Given the description of an element on the screen output the (x, y) to click on. 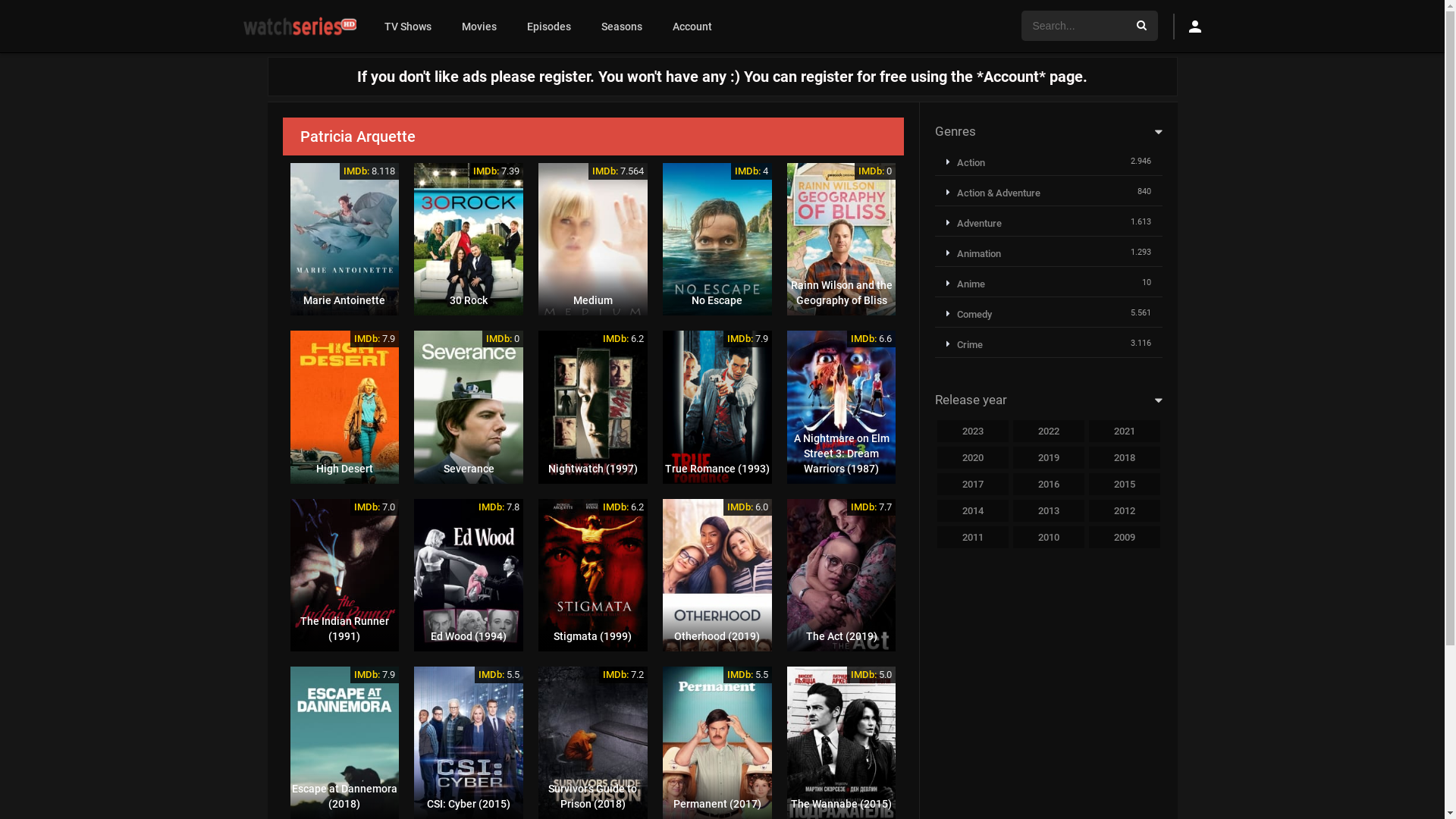
Account Element type: text (692, 26)
Adventure Element type: text (973, 223)
2009 Element type: text (1124, 537)
2010 Element type: text (1048, 537)
2020 Element type: text (972, 457)
Anime Element type: text (965, 283)
2019 Element type: text (1048, 457)
2017 Element type: text (972, 484)
2022 Element type: text (1048, 431)
Movies Element type: text (478, 26)
2021 Element type: text (1124, 431)
2014 Element type: text (972, 510)
Crime Element type: text (964, 344)
2023 Element type: text (972, 431)
TV Shows Element type: text (407, 26)
2012 Element type: text (1124, 510)
Animation Element type: text (973, 253)
Seasons Element type: text (621, 26)
2011 Element type: text (972, 537)
Episodes Element type: text (548, 26)
2015 Element type: text (1124, 484)
2013 Element type: text (1048, 510)
Action Element type: text (965, 162)
Comedy Element type: text (968, 314)
Action & Adventure Element type: text (993, 192)
2016 Element type: text (1048, 484)
2018 Element type: text (1124, 457)
